Given the description of an element on the screen output the (x, y) to click on. 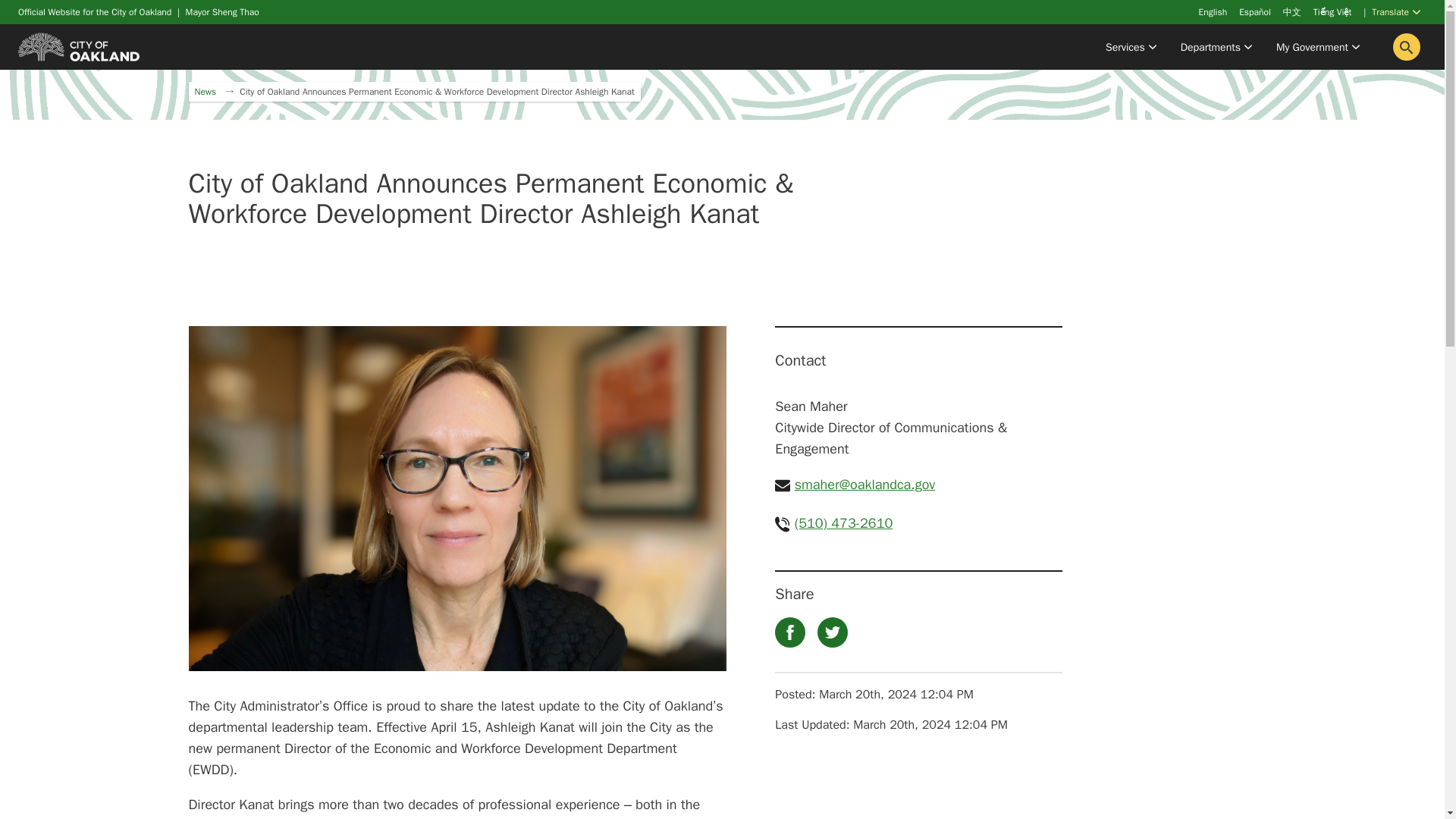
Services (1131, 46)
Mayor Sheng Thao (222, 11)
Departments (1216, 46)
English (1212, 11)
Translate (1395, 13)
Home (78, 46)
